Given the description of an element on the screen output the (x, y) to click on. 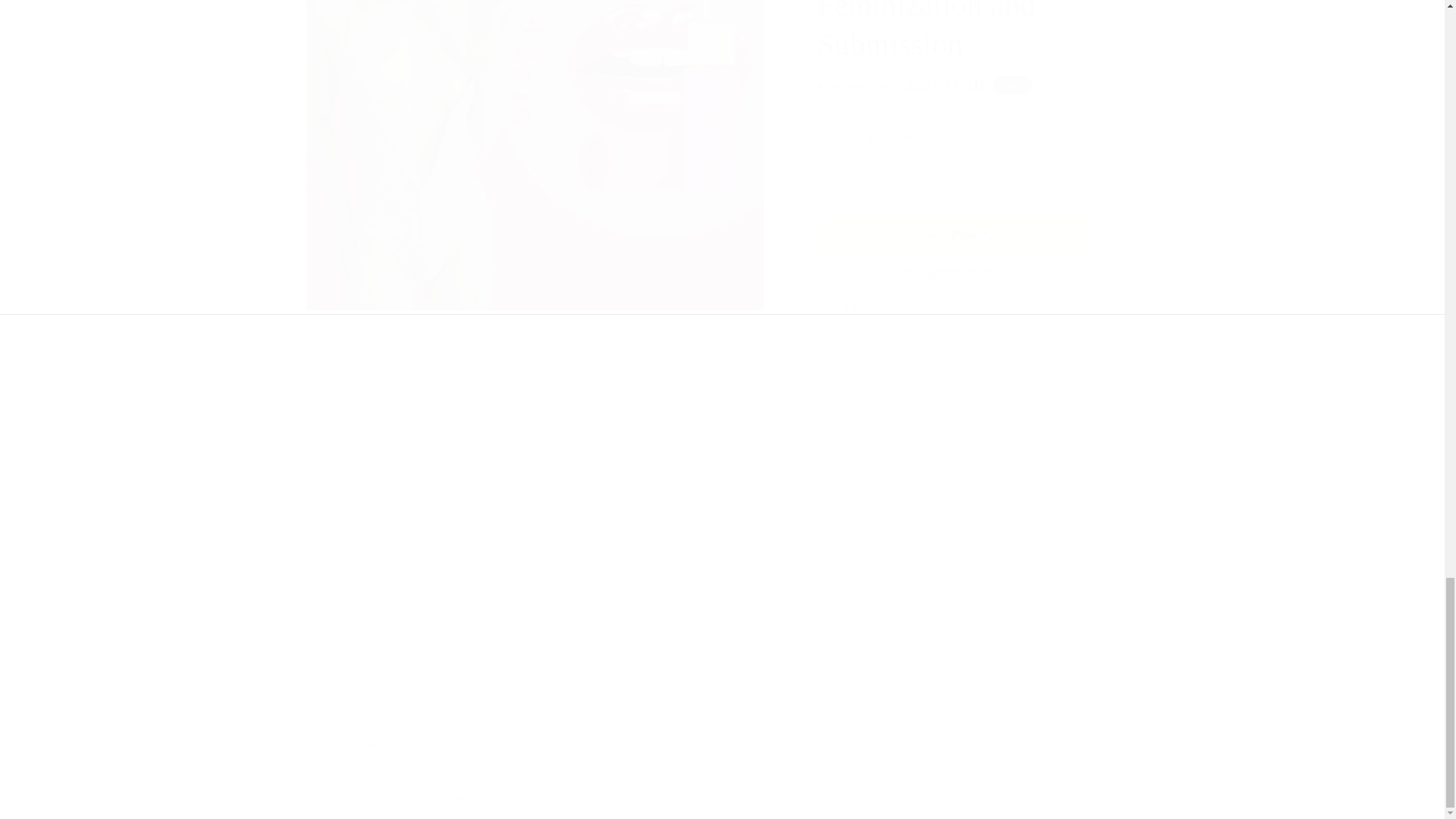
1 (870, 137)
